Given the description of an element on the screen output the (x, y) to click on. 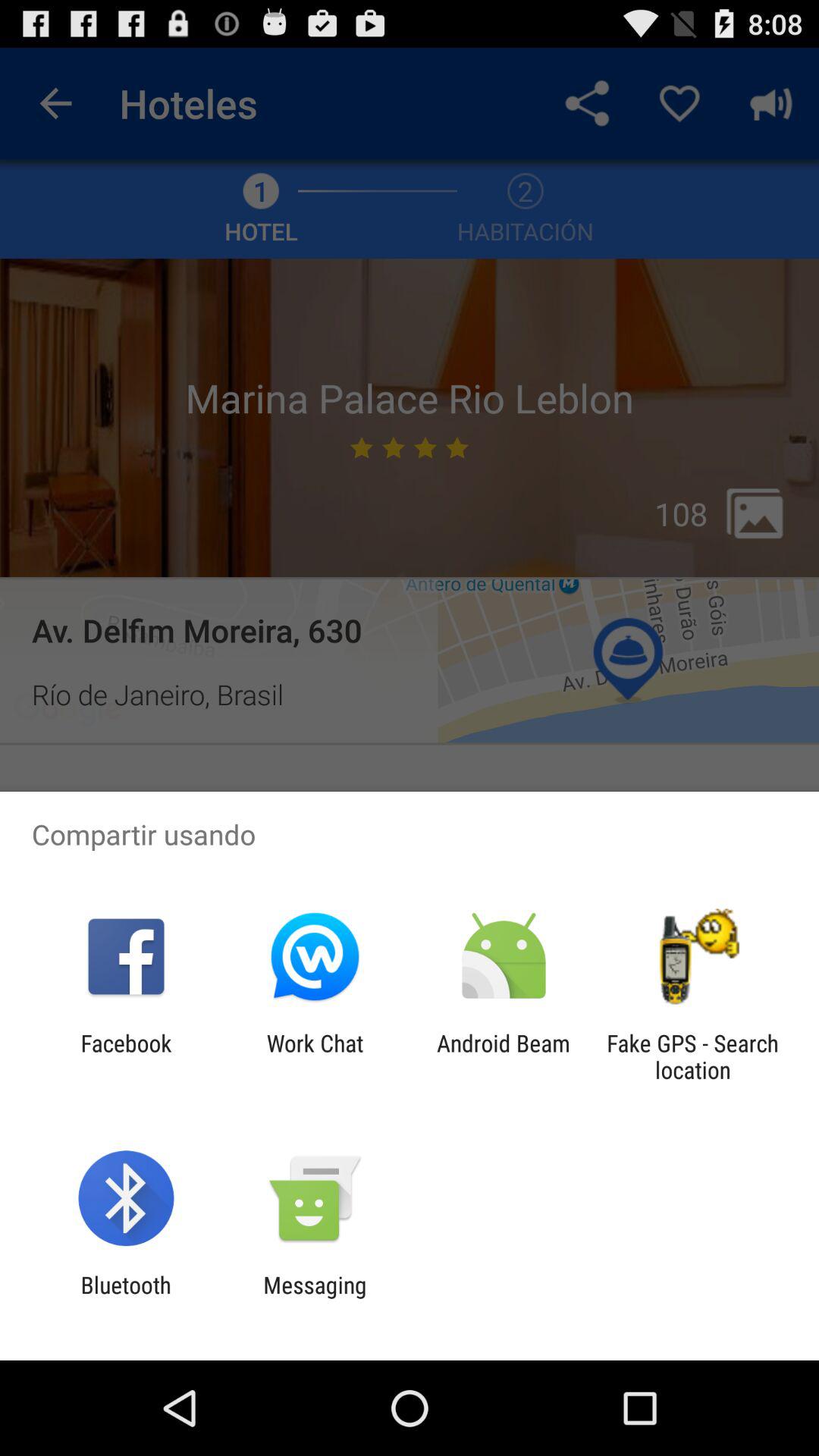
open the item to the left of the android beam (314, 1056)
